Given the description of an element on the screen output the (x, y) to click on. 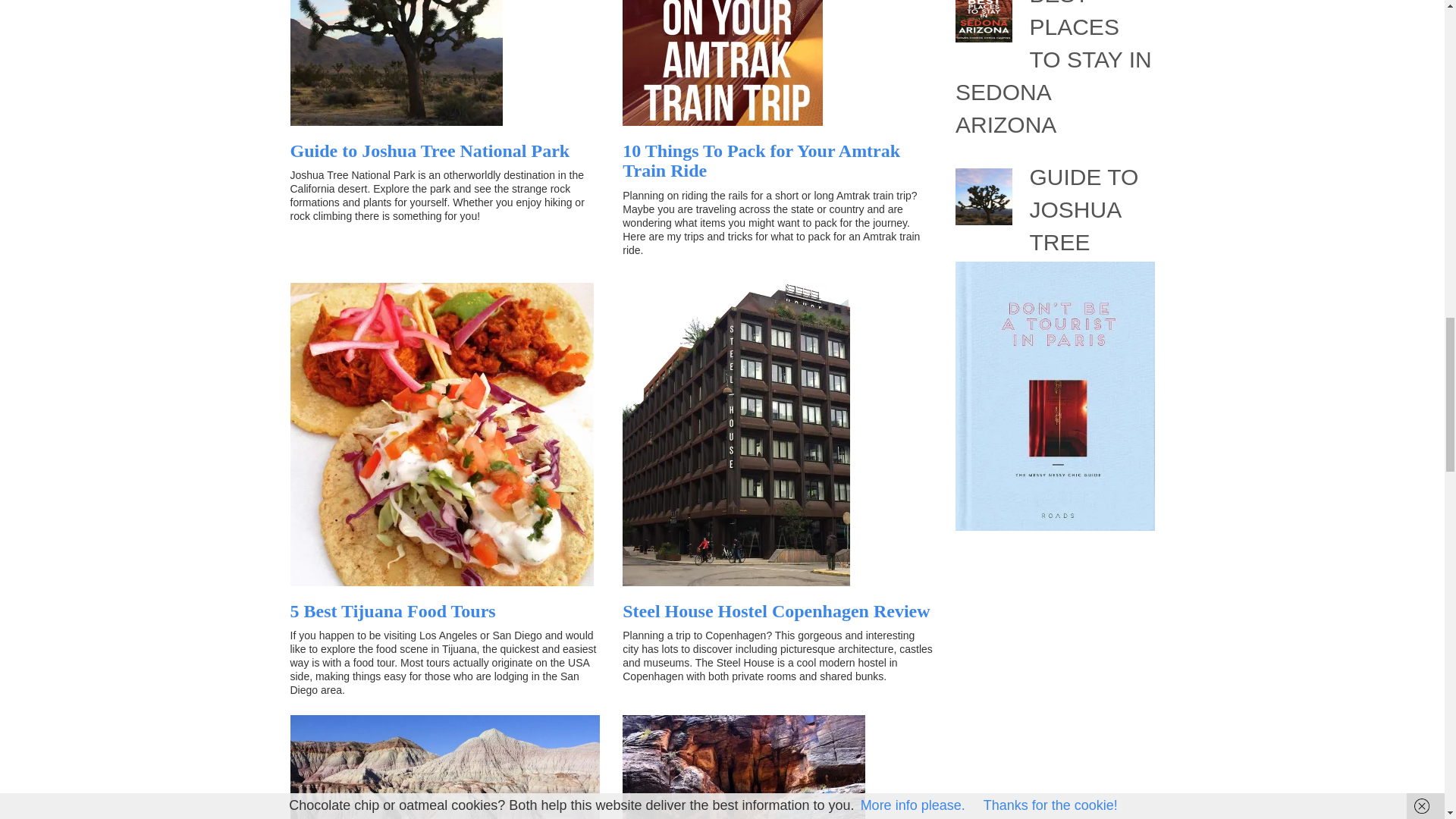
10 Things To Pack for Your Amtrak Train Ride (761, 160)
10 Things To Pack for Your Amtrak Train Ride (761, 160)
Guide to Joshua Tree National Park (429, 150)
5 Best Tijuana Food Tours (392, 610)
Guide to Joshua Tree National Park (429, 150)
5 Best Tijuana Food Tours (392, 610)
Steel House Hostel Copenhagen Review (776, 610)
Steel House Hostel Copenhagen Review (776, 610)
